Given the description of an element on the screen output the (x, y) to click on. 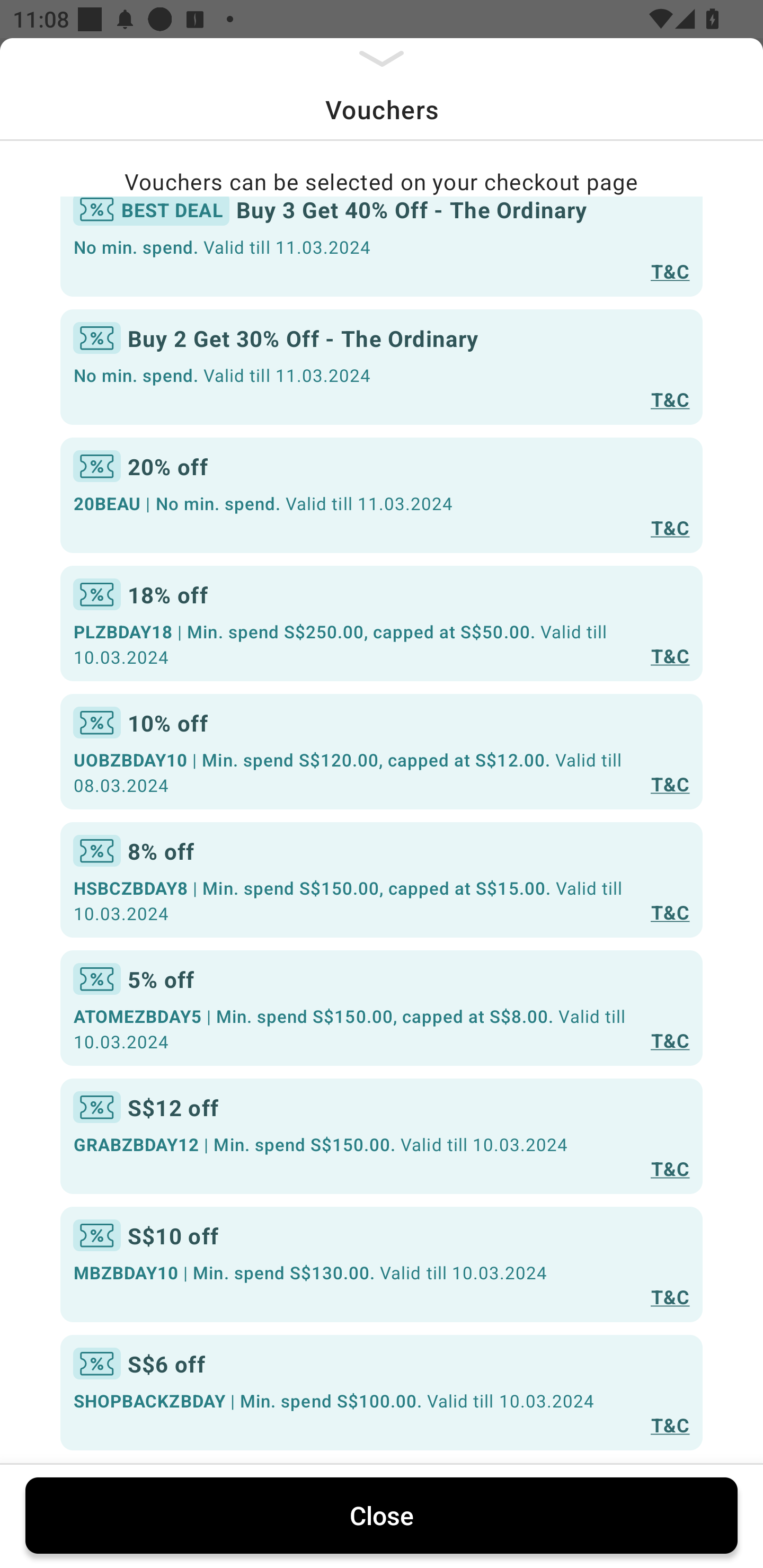
T&C (669, 270)
T&C (669, 398)
T&C (669, 527)
T&C (669, 654)
T&C (669, 783)
T&C (669, 911)
T&C (669, 1040)
T&C (669, 1167)
T&C (669, 1296)
T&C (669, 1424)
Close (381, 1515)
